Given the description of an element on the screen output the (x, y) to click on. 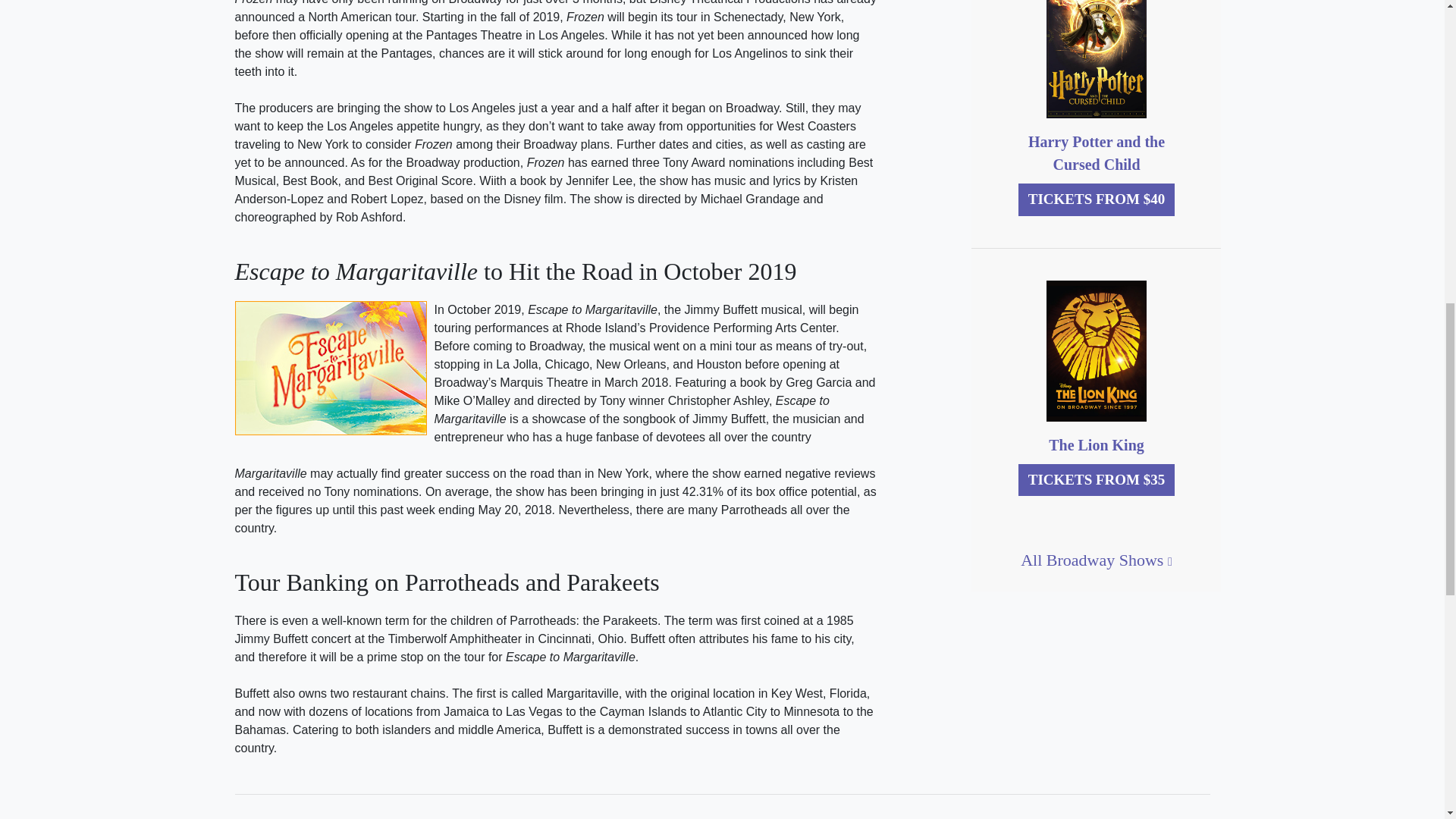
The Lion King (1096, 444)
Harry Potter and the Cursed Child (1095, 152)
All Broadway Shows (1096, 559)
